Given the description of an element on the screen output the (x, y) to click on. 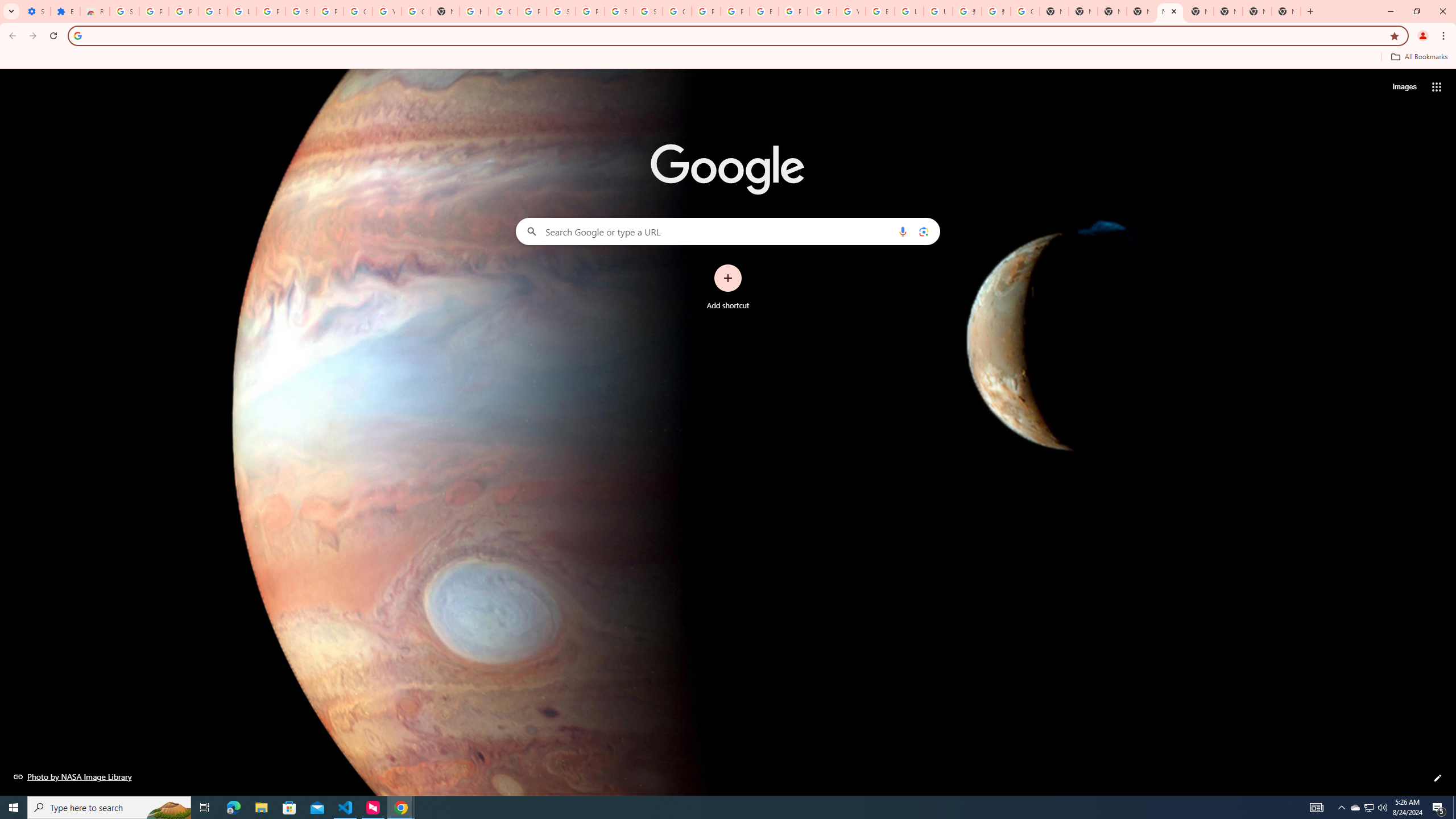
Learn how to find your photos - Google Photos Help (242, 11)
